Given the description of an element on the screen output the (x, y) to click on. 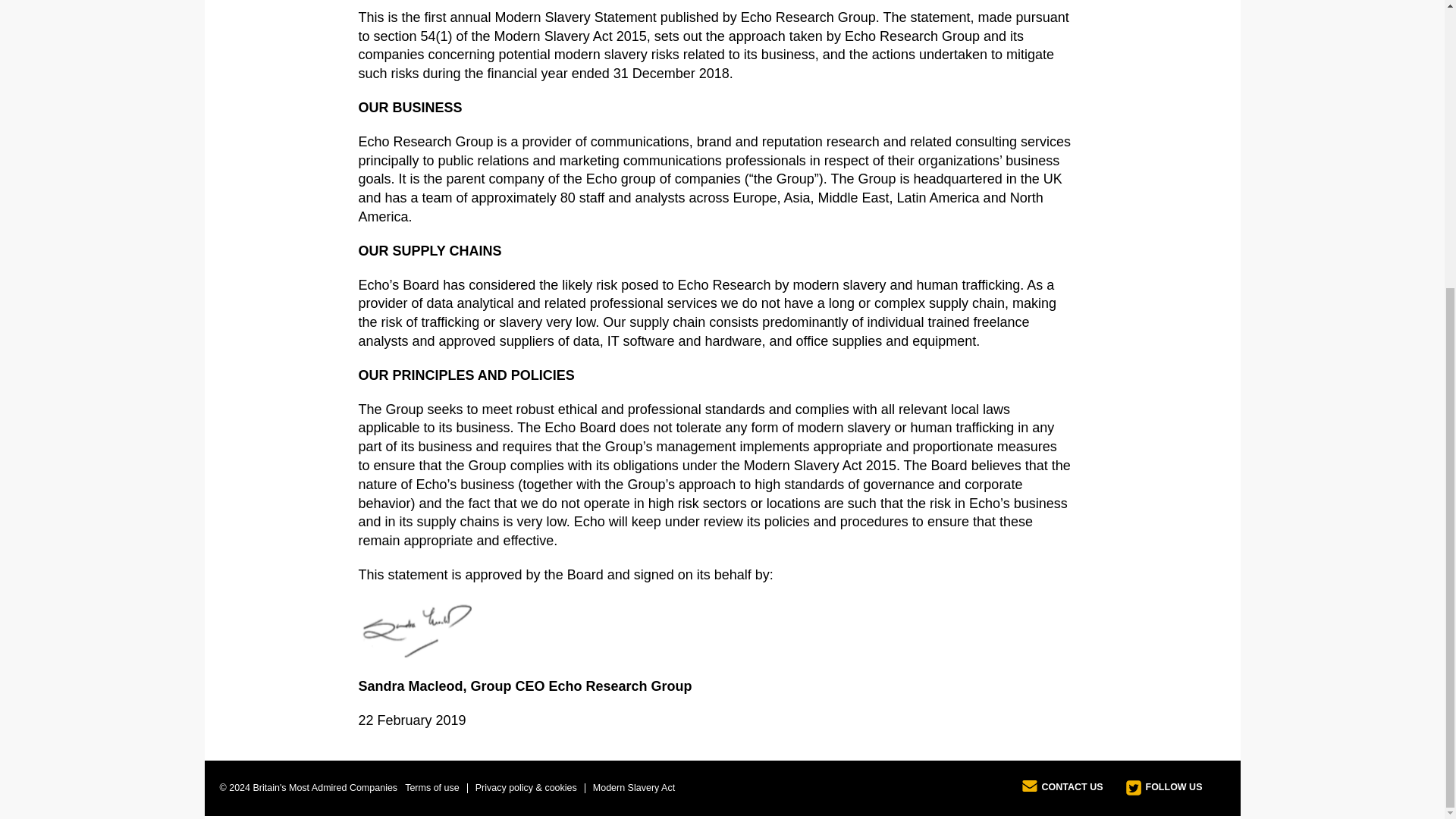
Terms of use (432, 787)
CONTACT US (1062, 788)
Modern Slavery Act (633, 787)
FOLLOW US (1163, 788)
